Given the description of an element on the screen output the (x, y) to click on. 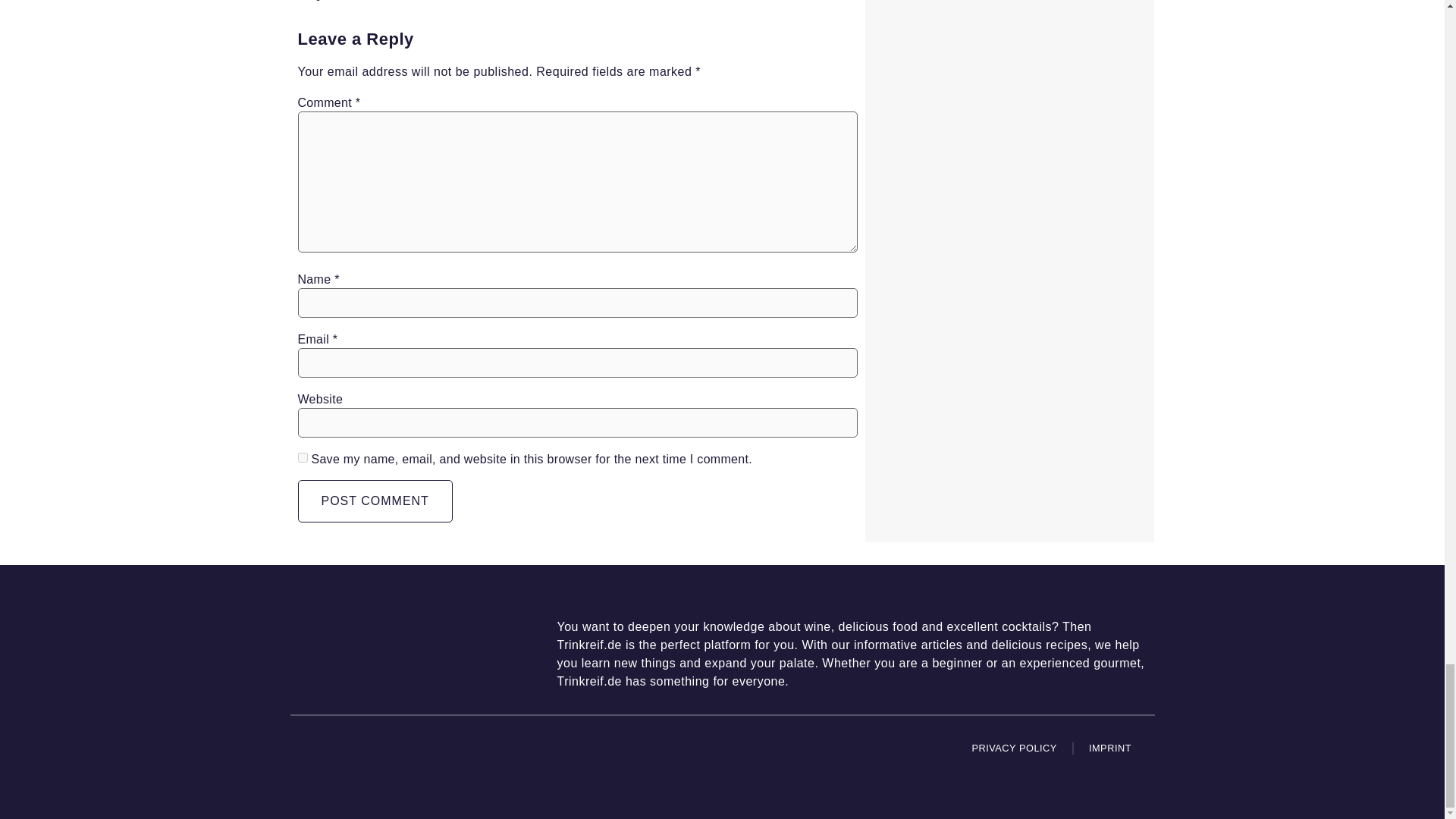
Post Comment (374, 500)
yes (302, 457)
